Given the description of an element on the screen output the (x, y) to click on. 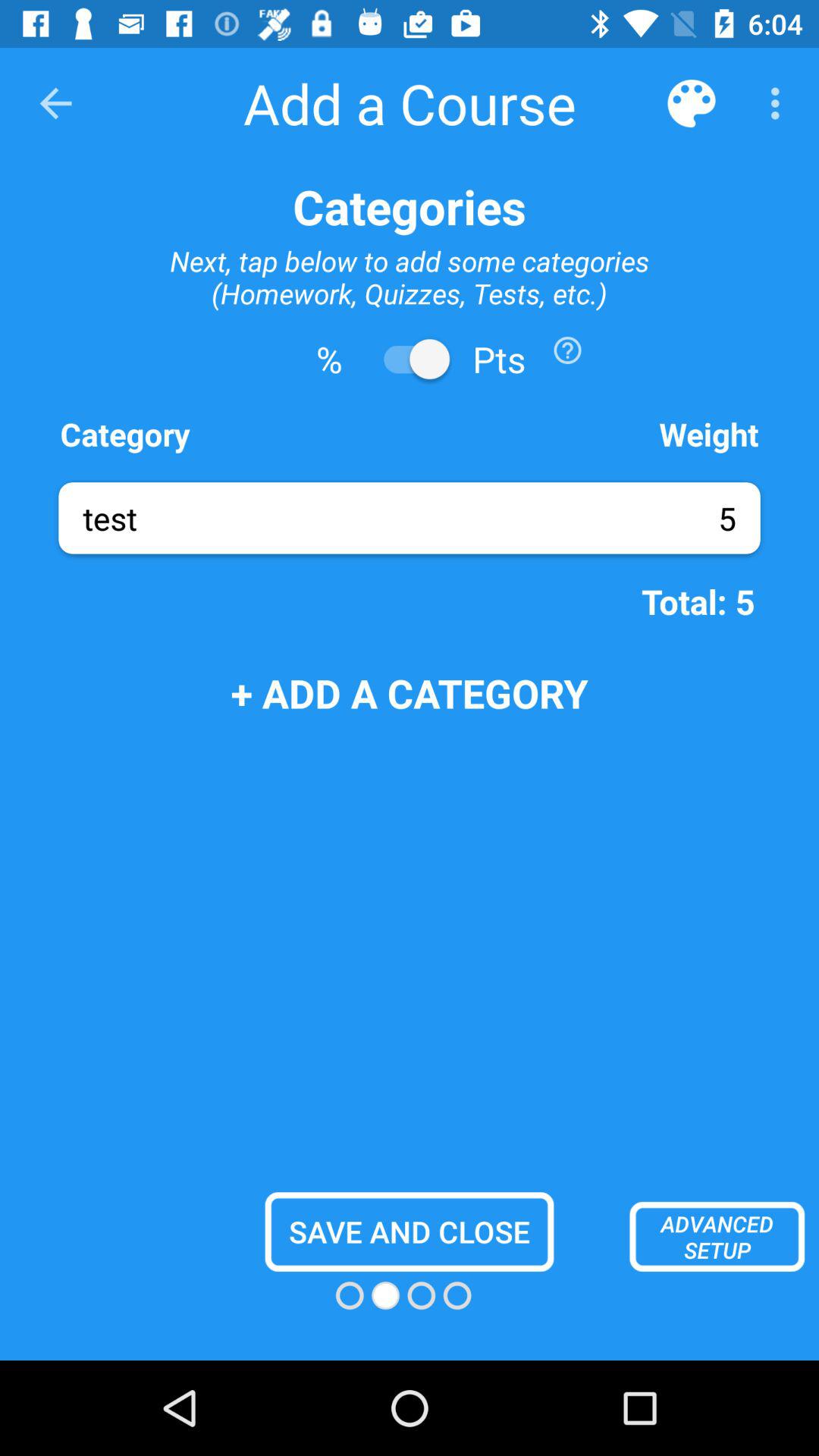
choose icon below the + add a category (409, 1231)
